Given the description of an element on the screen output the (x, y) to click on. 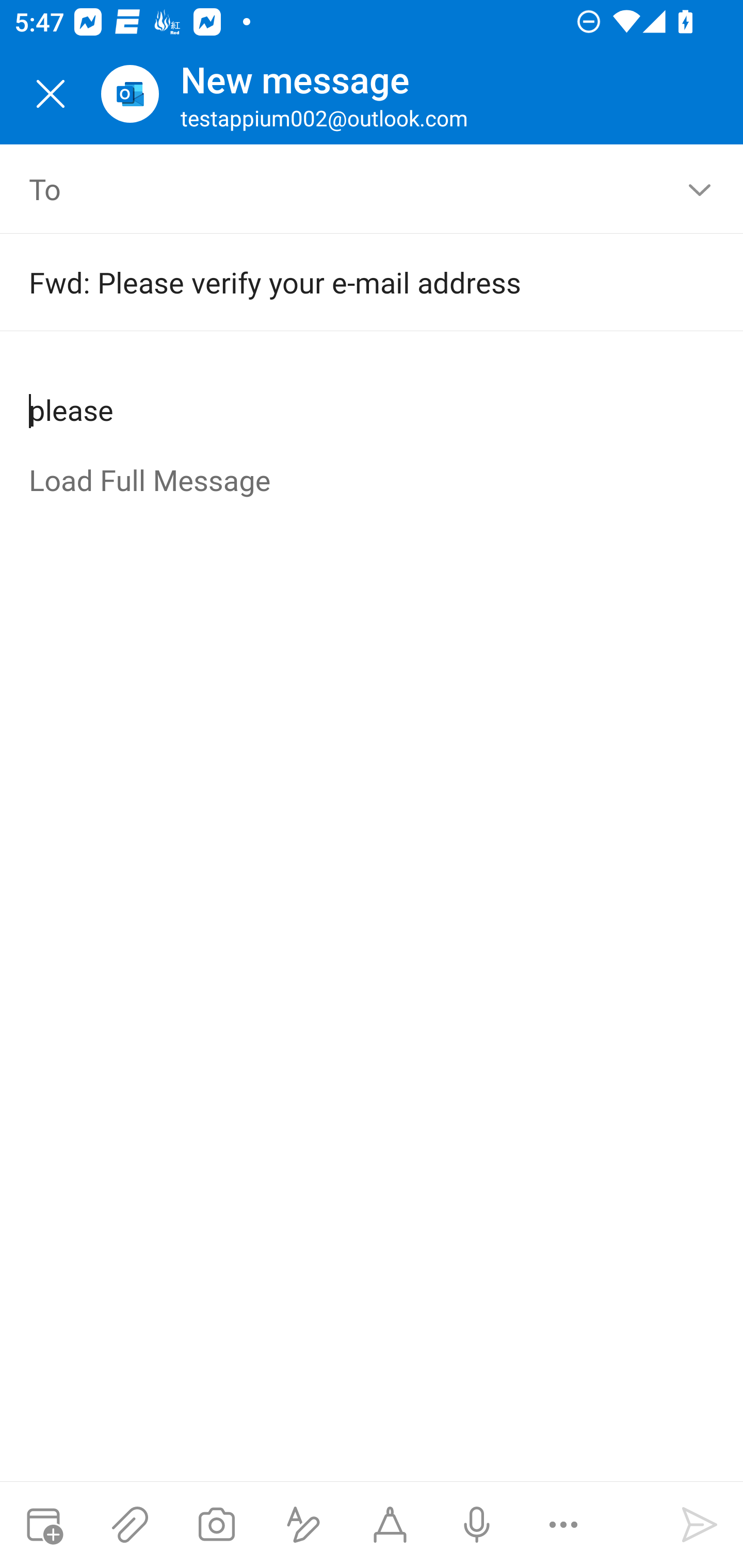
Close (50, 93)
Fwd: Please verify your e-mail address (342, 281)

please (372, 394)
Load Full Message (372, 482)
Attach meeting (43, 1524)
Attach files (129, 1524)
Take a photo (216, 1524)
Show formatting options (303, 1524)
Start Ink compose (389, 1524)
Dictation (476, 1524)
More options (563, 1524)
Send (699, 1524)
